Given the description of an element on the screen output the (x, y) to click on. 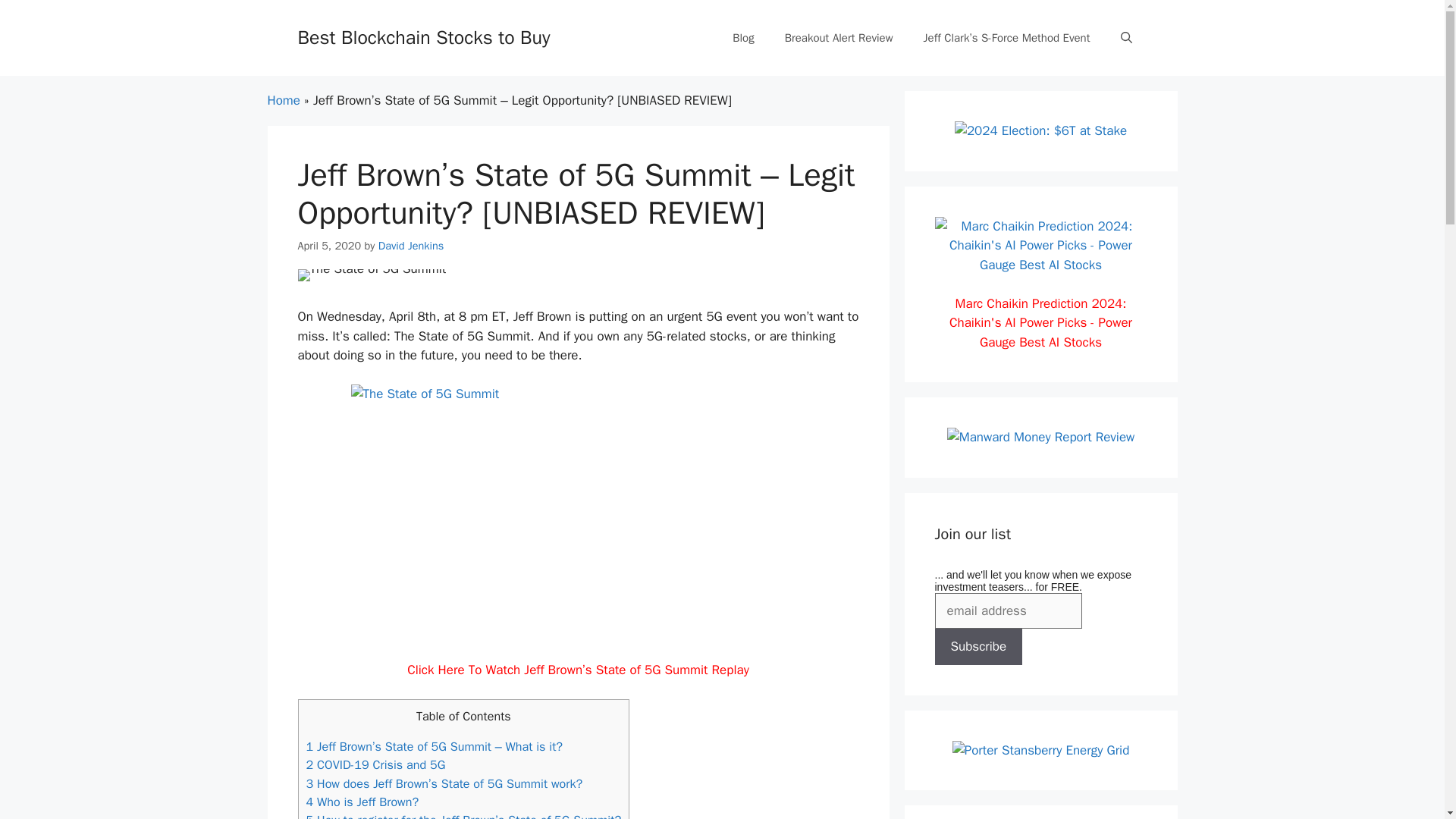
View all posts by David Jenkins (411, 244)
Home (282, 100)
Breakout Alert Review (839, 37)
Manward Money Report Review (1041, 437)
Best Blockchain Stocks to Buy (423, 37)
Porter Stansberry Energy Grid (1040, 749)
Subscribe (978, 646)
2 COVID-19 Crisis and 5G (375, 764)
4 Who is Jeff Brown? (362, 801)
Blog (742, 37)
David Jenkins (411, 244)
